Given the description of an element on the screen output the (x, y) to click on. 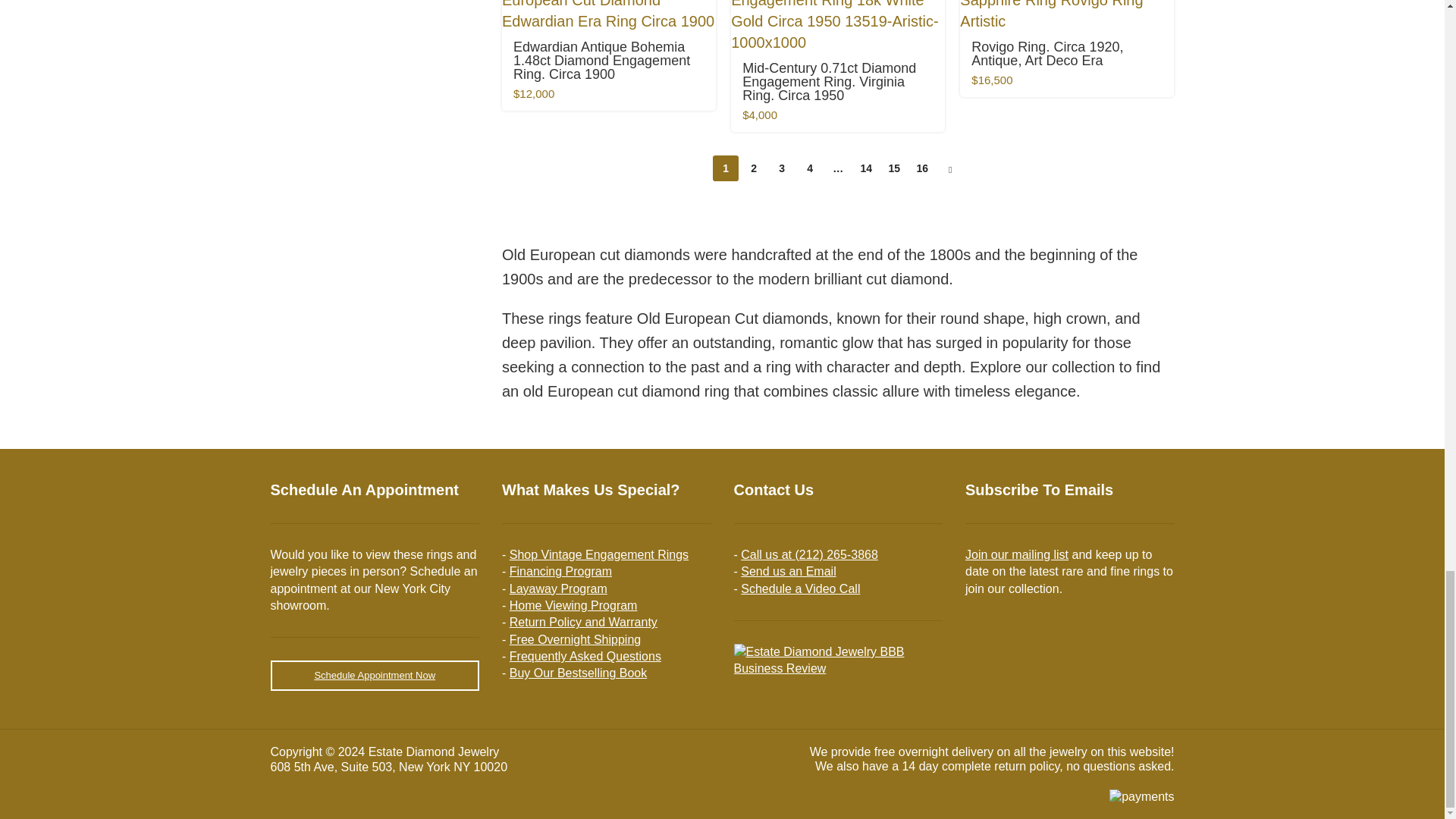
Estate Diamond Jewelry BBB Business Review (838, 659)
